Given the description of an element on the screen output the (x, y) to click on. 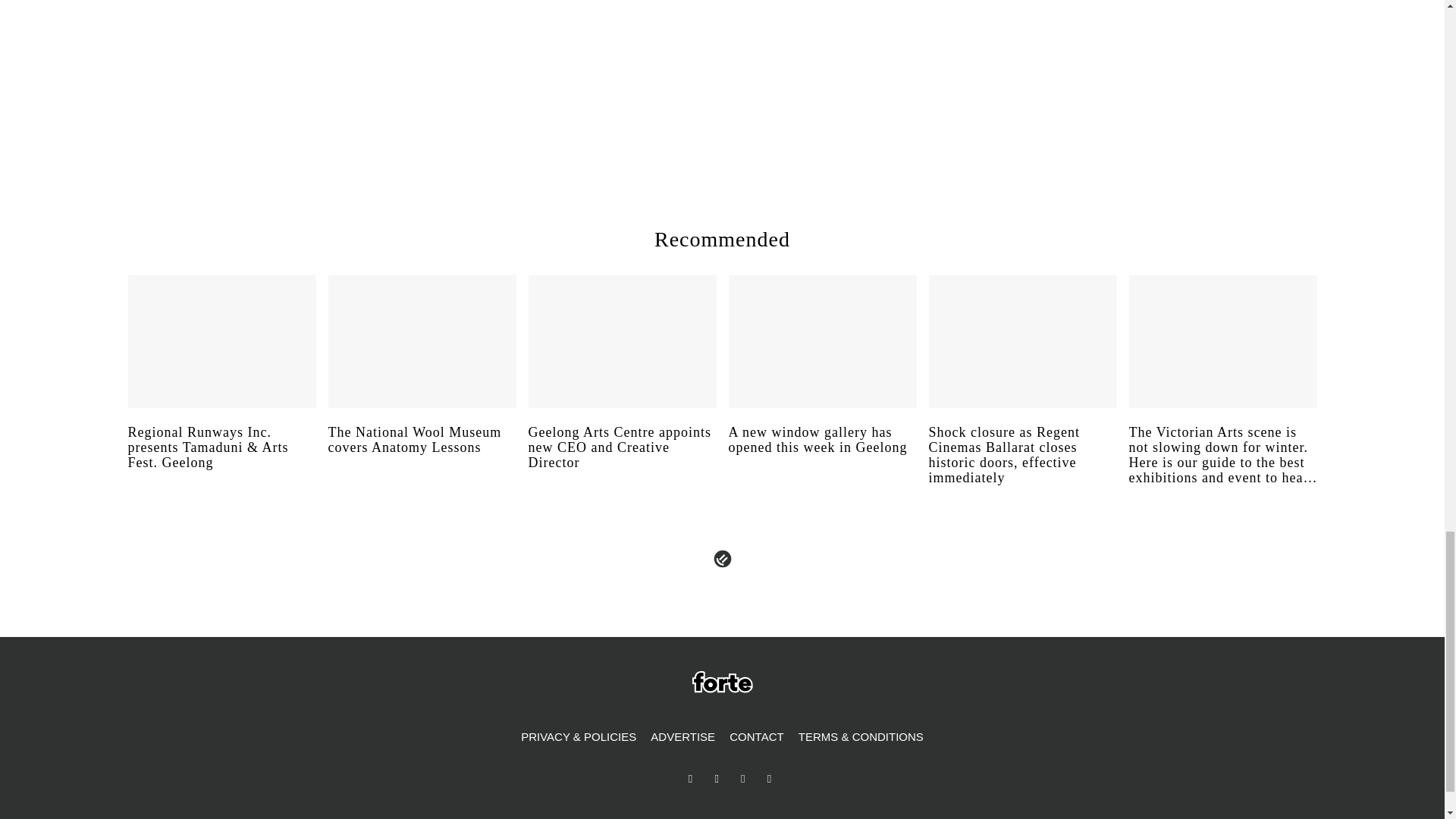
The National Wool Museum covers Anatomy Lessons (421, 454)
3rd party ad content (1082, 79)
A new window gallery has opened this week in Geelong (821, 454)
Geelong Arts Centre appoints new CEO and Creative Director (621, 461)
